Given the description of an element on the screen output the (x, y) to click on. 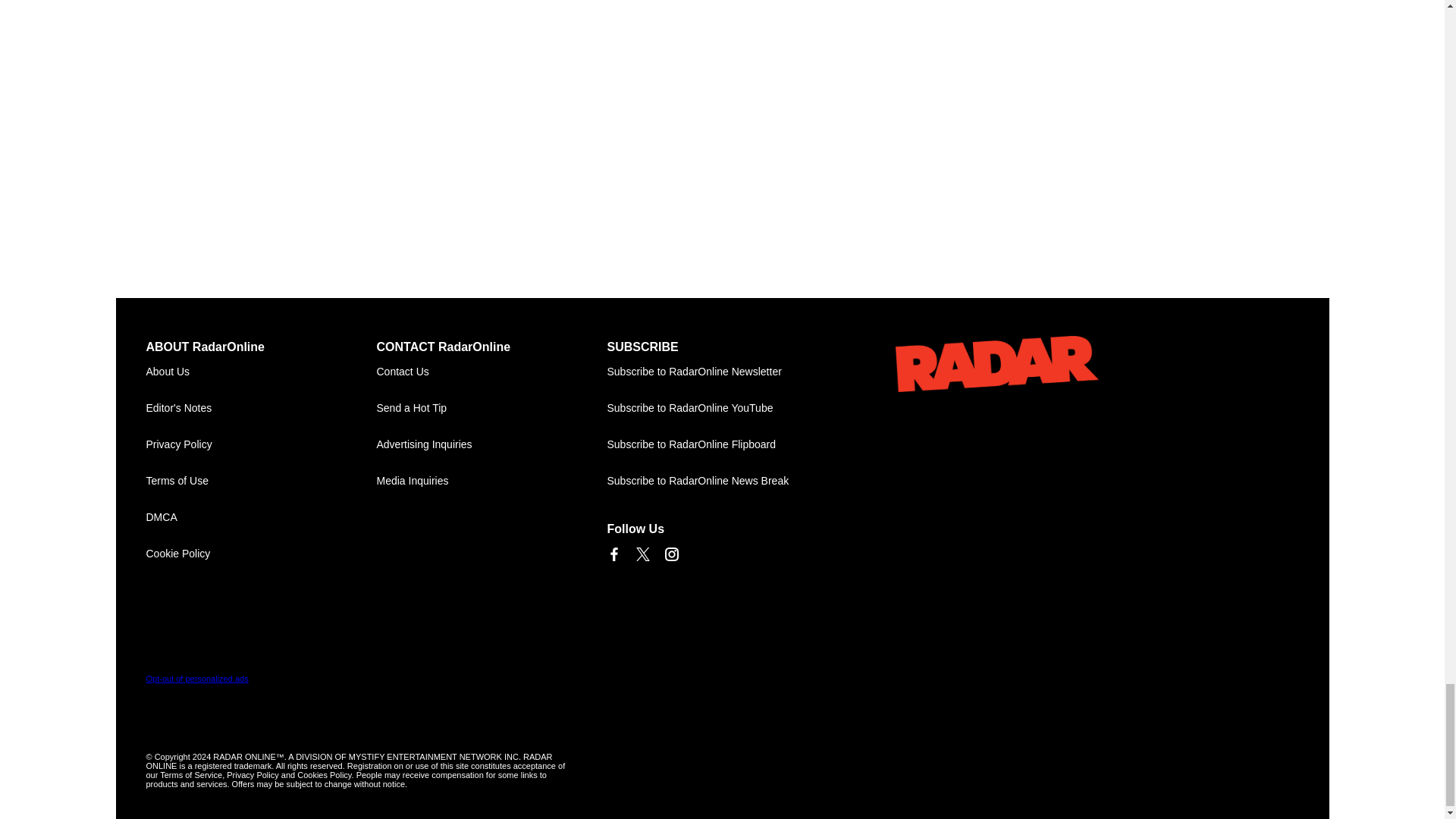
Editor's Notes (260, 408)
Link to Instagram (670, 554)
Terms of Use (260, 481)
Cookie Policy (260, 554)
Privacy Policy (260, 444)
Send a Hot Tip (491, 408)
Link to Facebook (613, 554)
Advertising Inquiries (491, 444)
Media Inquiries (491, 481)
About Us (260, 371)
